Given the description of an element on the screen output the (x, y) to click on. 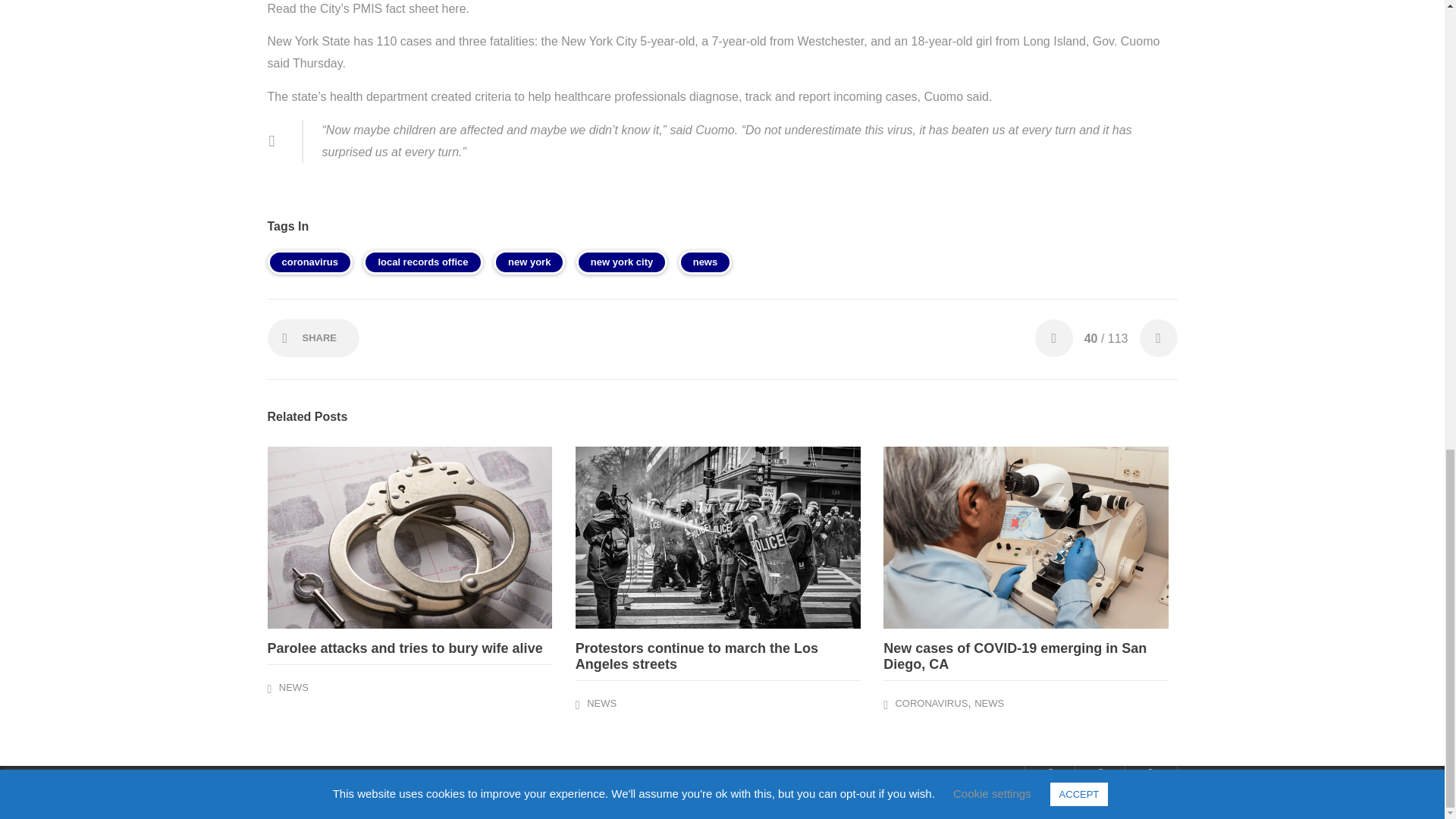
new york (528, 262)
new york city (621, 262)
coronavirus (309, 262)
local records office (421, 262)
